Given the description of an element on the screen output the (x, y) to click on. 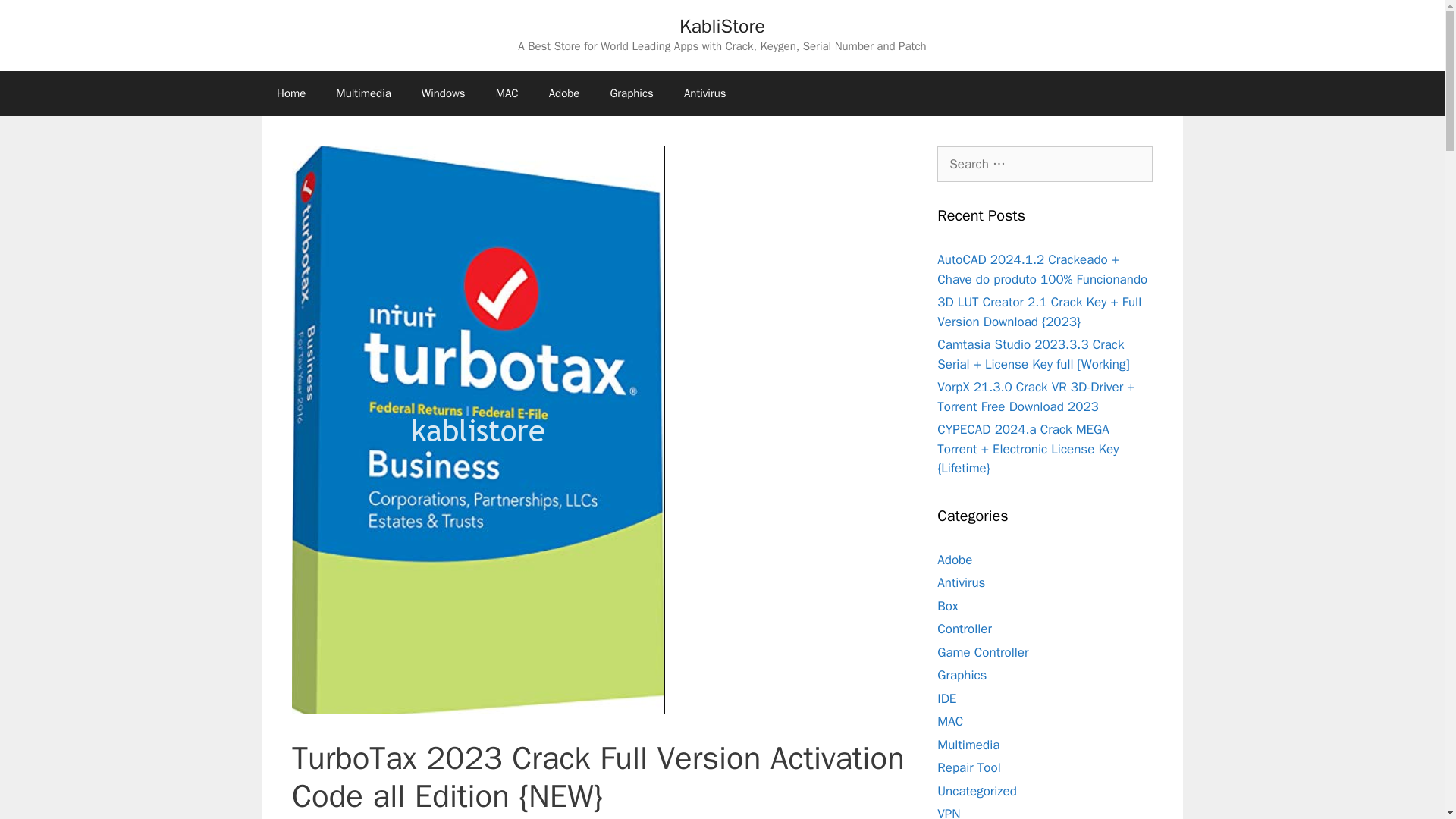
Search (35, 18)
Windows (443, 92)
Antivirus (704, 92)
Multimedia (363, 92)
Home (291, 92)
Graphics (631, 92)
Search for: (1045, 163)
MAC (507, 92)
Adobe (564, 92)
KabliStore (722, 25)
